Given the description of an element on the screen output the (x, y) to click on. 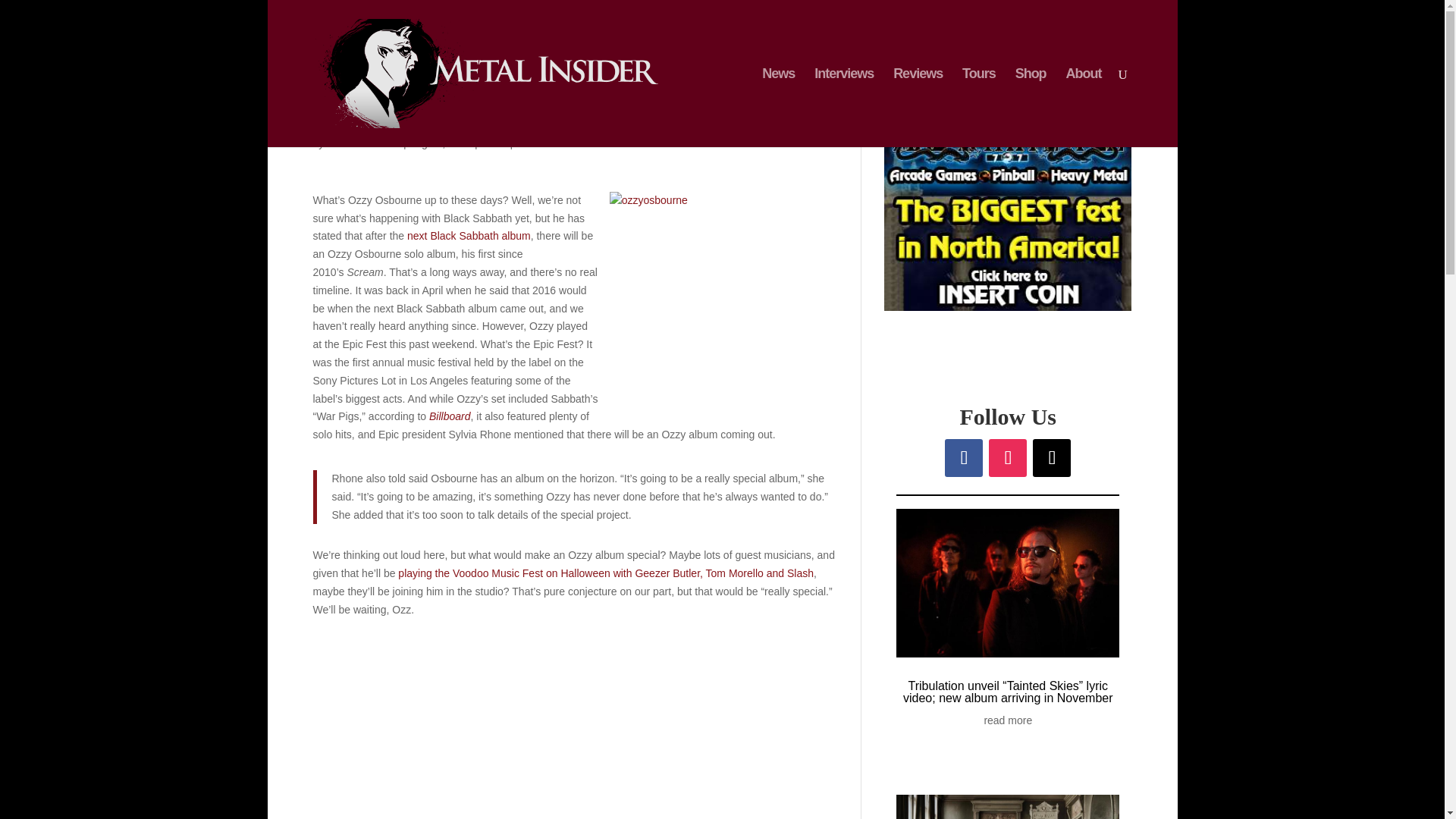
Posts by Bram Teitelman (363, 143)
read more (1007, 720)
News (493, 143)
Follow on Instagram (1007, 457)
Follow on Facebook (963, 457)
next Black Sabbath album (469, 235)
3 comments (544, 143)
Billboard (449, 416)
Follow on X (1051, 457)
Bram Teitelman (363, 143)
